Given the description of an element on the screen output the (x, y) to click on. 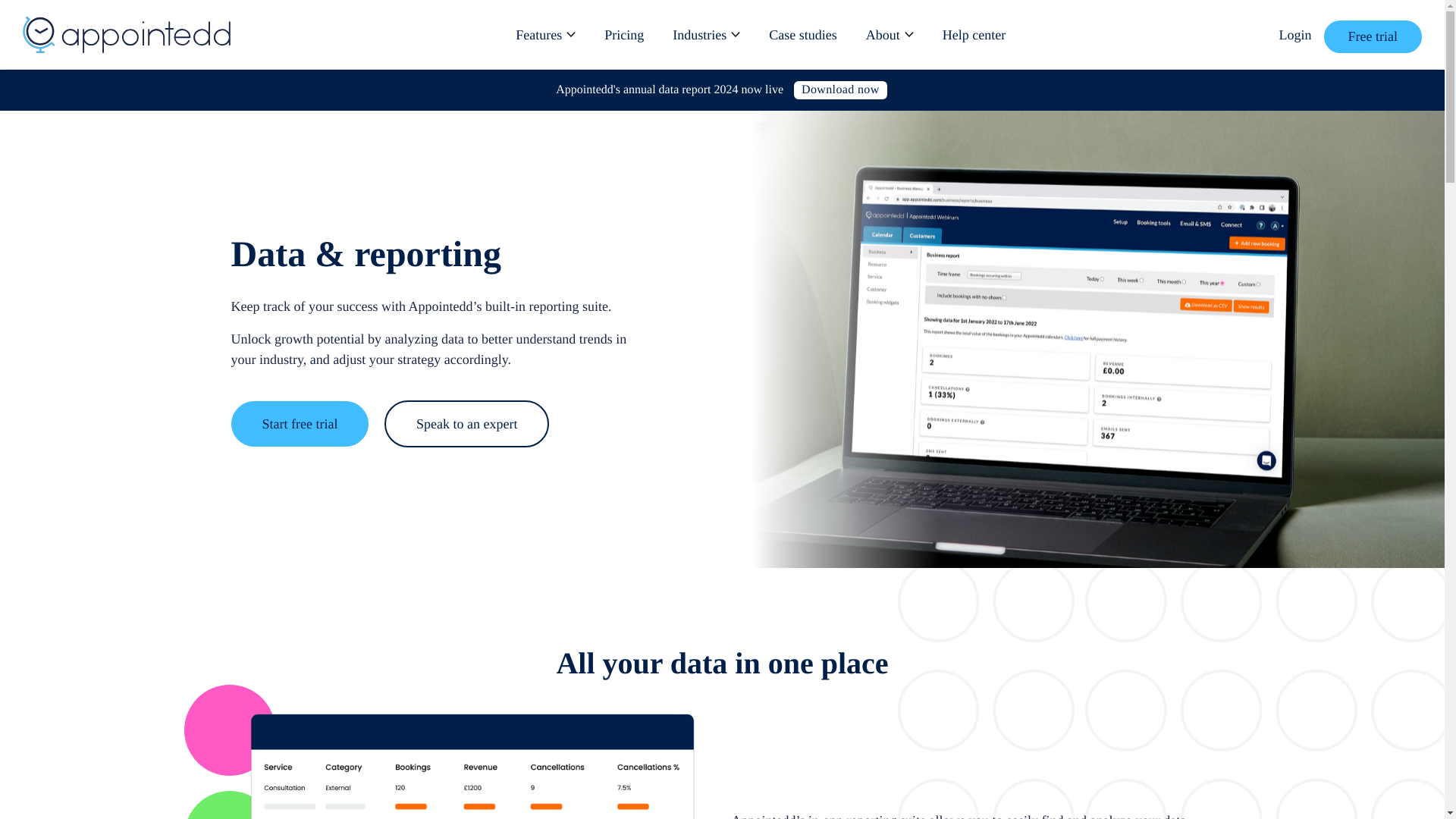
Free trial (1372, 35)
Case studies (802, 34)
Help center (974, 34)
Go back to the home page (126, 34)
Login (1294, 38)
Pricing (623, 34)
About (889, 34)
Download now (840, 89)
Industries (706, 34)
Speak to an expert (466, 423)
